Given the description of an element on the screen output the (x, y) to click on. 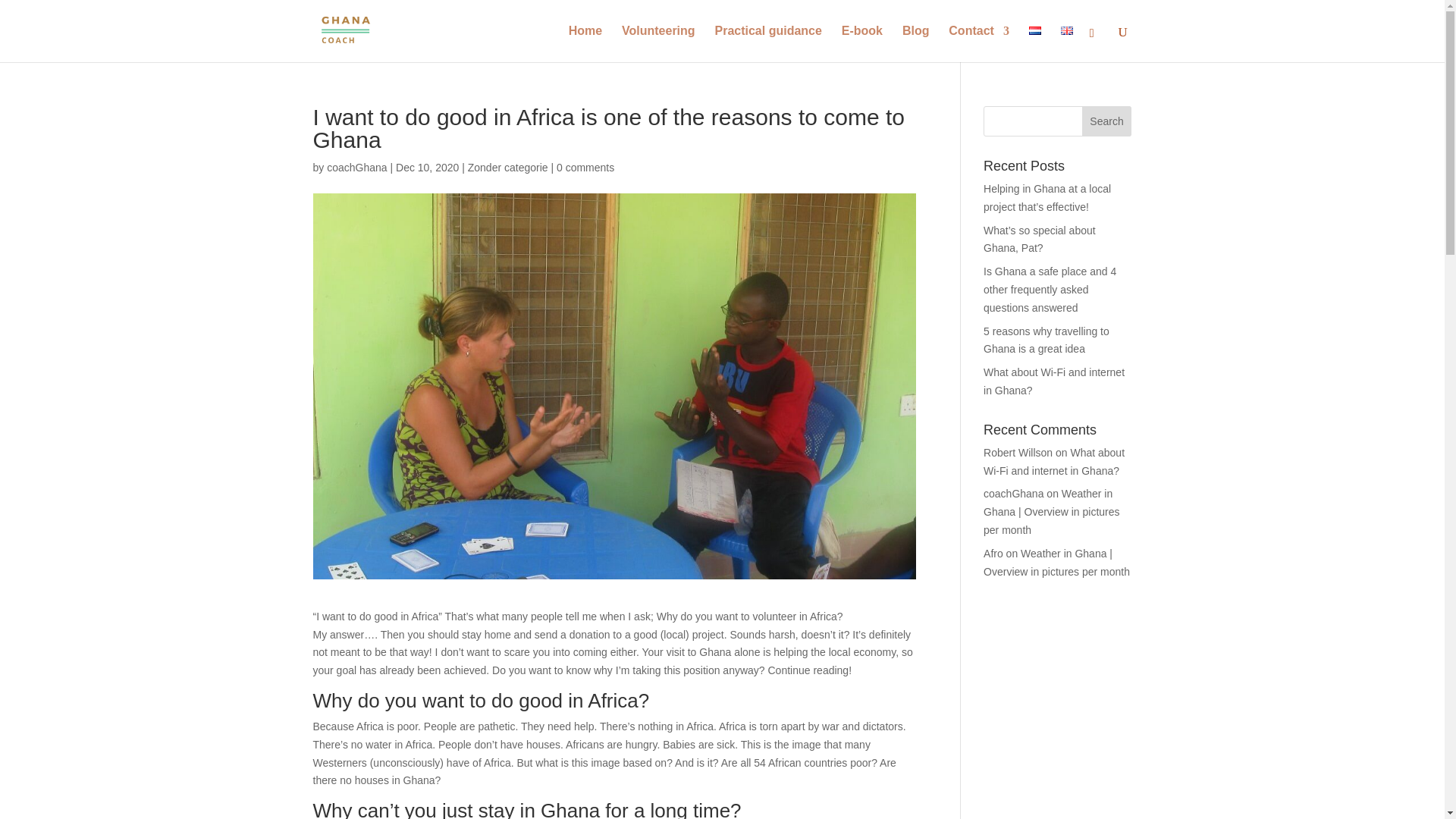
Search (1106, 121)
E-book (861, 43)
5 reasons why travelling to Ghana is a great idea (1046, 340)
What about Wi-Fi and internet in Ghana? (1054, 381)
coachGhana (356, 167)
Contact (979, 43)
Home (585, 43)
Zonder categorie (507, 167)
Practical guidance (767, 43)
Search (1106, 121)
